Given the description of an element on the screen output the (x, y) to click on. 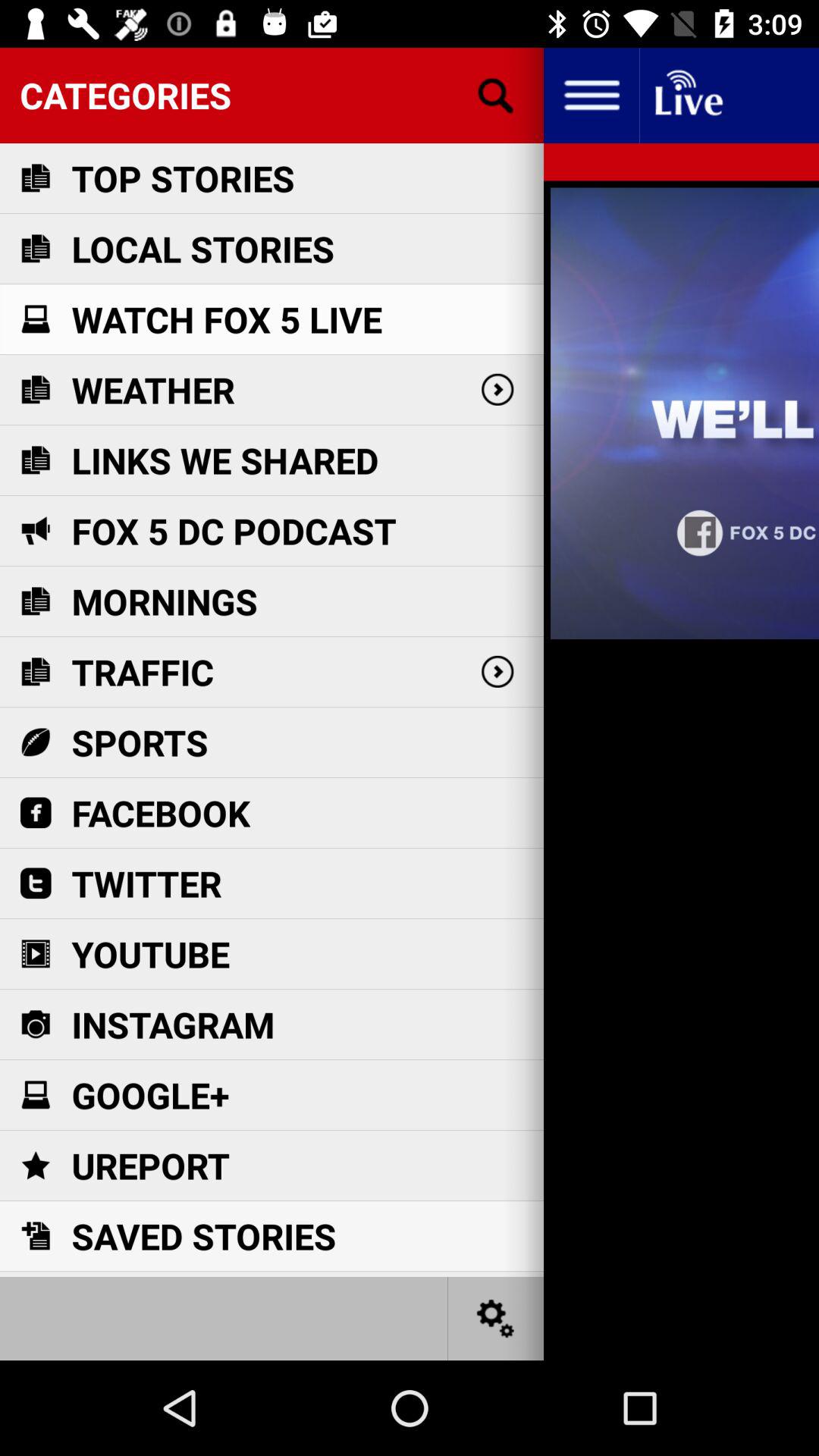
press item to the right of the categories icon (591, 95)
